Given the description of an element on the screen output the (x, y) to click on. 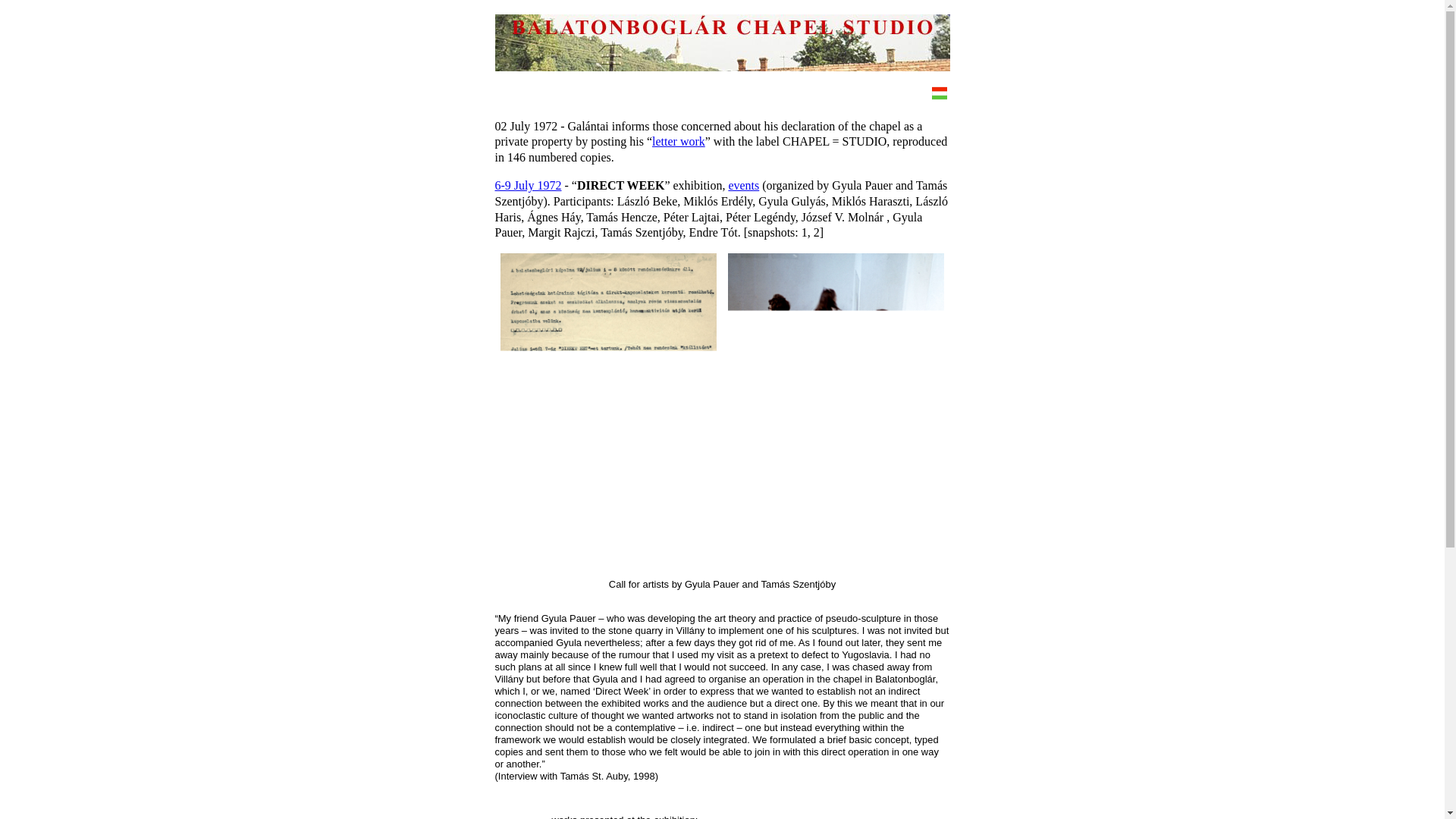
6-9 July 1972 (527, 185)
events (743, 185)
Interview (517, 776)
letter work (678, 141)
